Given the description of an element on the screen output the (x, y) to click on. 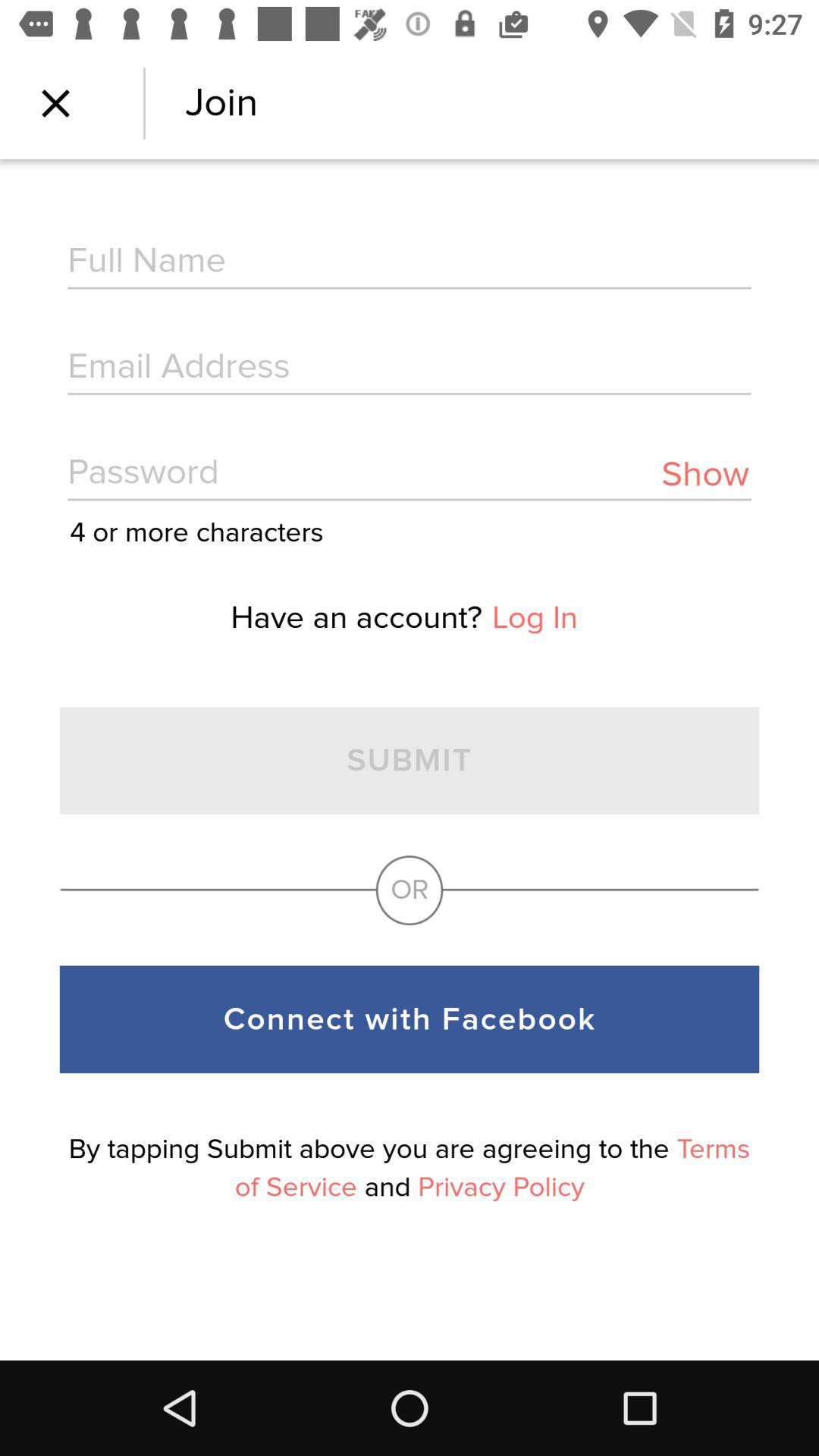
close (55, 103)
